Given the description of an element on the screen output the (x, y) to click on. 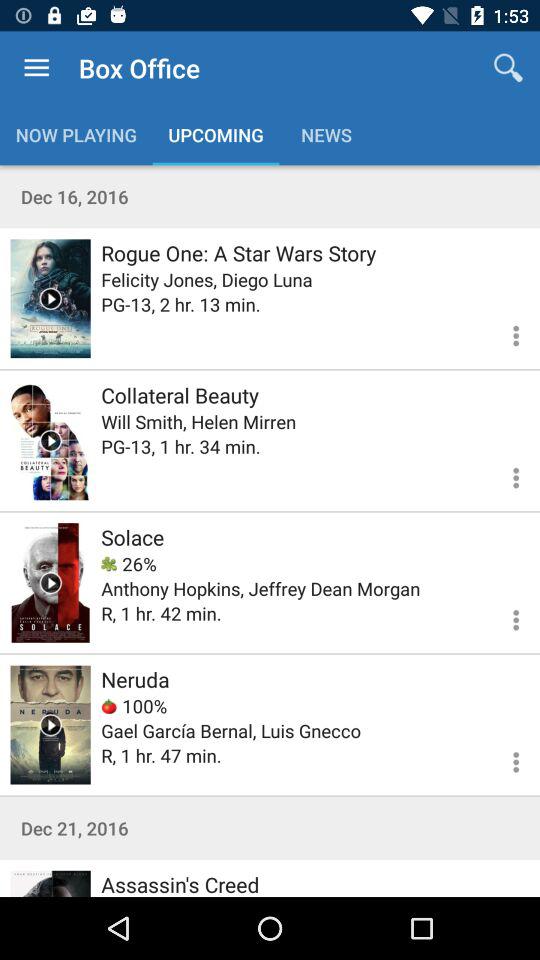
turn off icon above the now playing icon (36, 68)
